Given the description of an element on the screen output the (x, y) to click on. 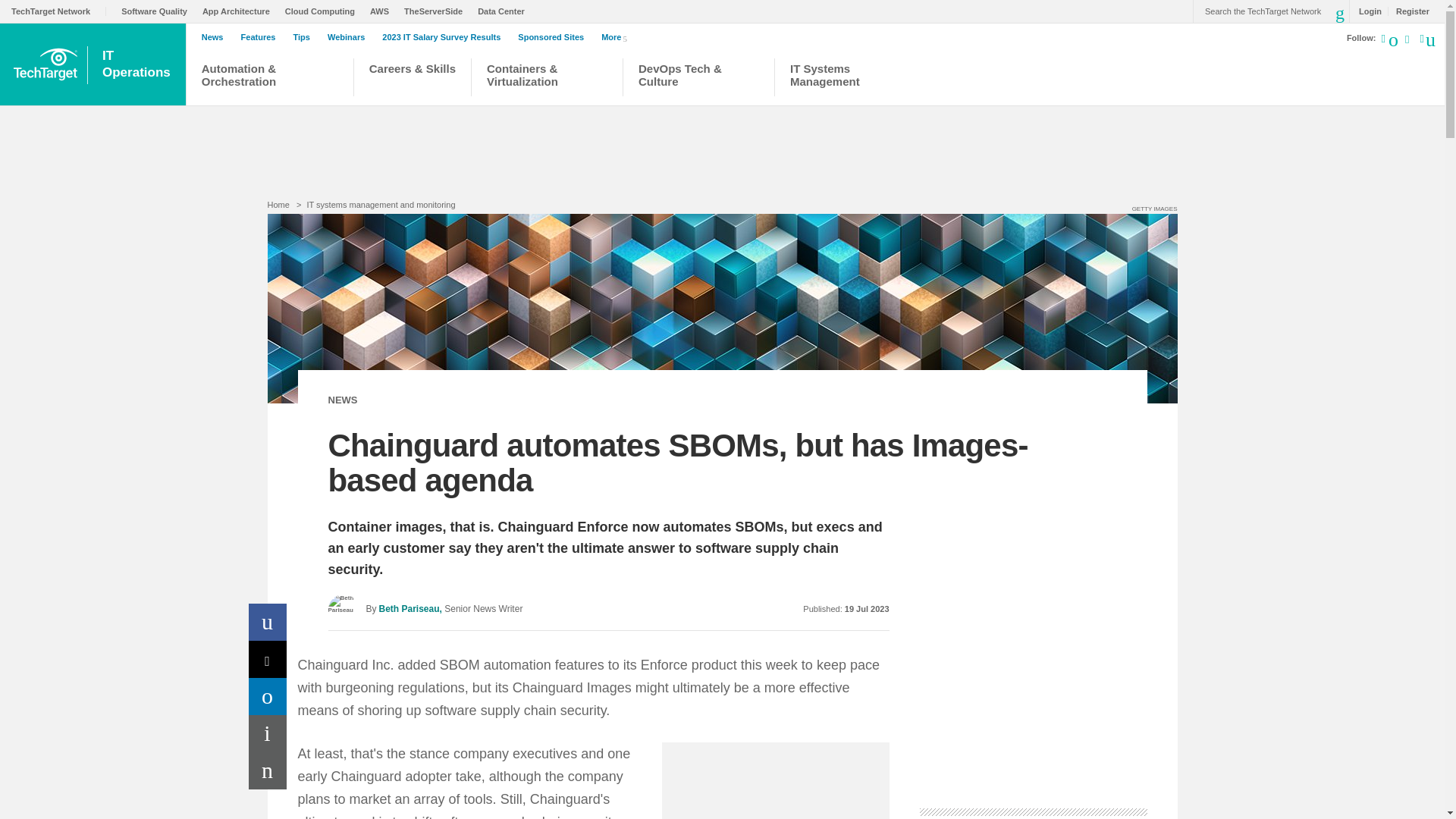
TheServerSide (437, 10)
Software Quality (157, 10)
Share on LinkedIn (267, 696)
App Architecture (240, 10)
Register (1408, 10)
Login (1366, 10)
Tips (304, 36)
News (216, 36)
AWS (382, 10)
TechTarget Network (58, 10)
